Given the description of an element on the screen output the (x, y) to click on. 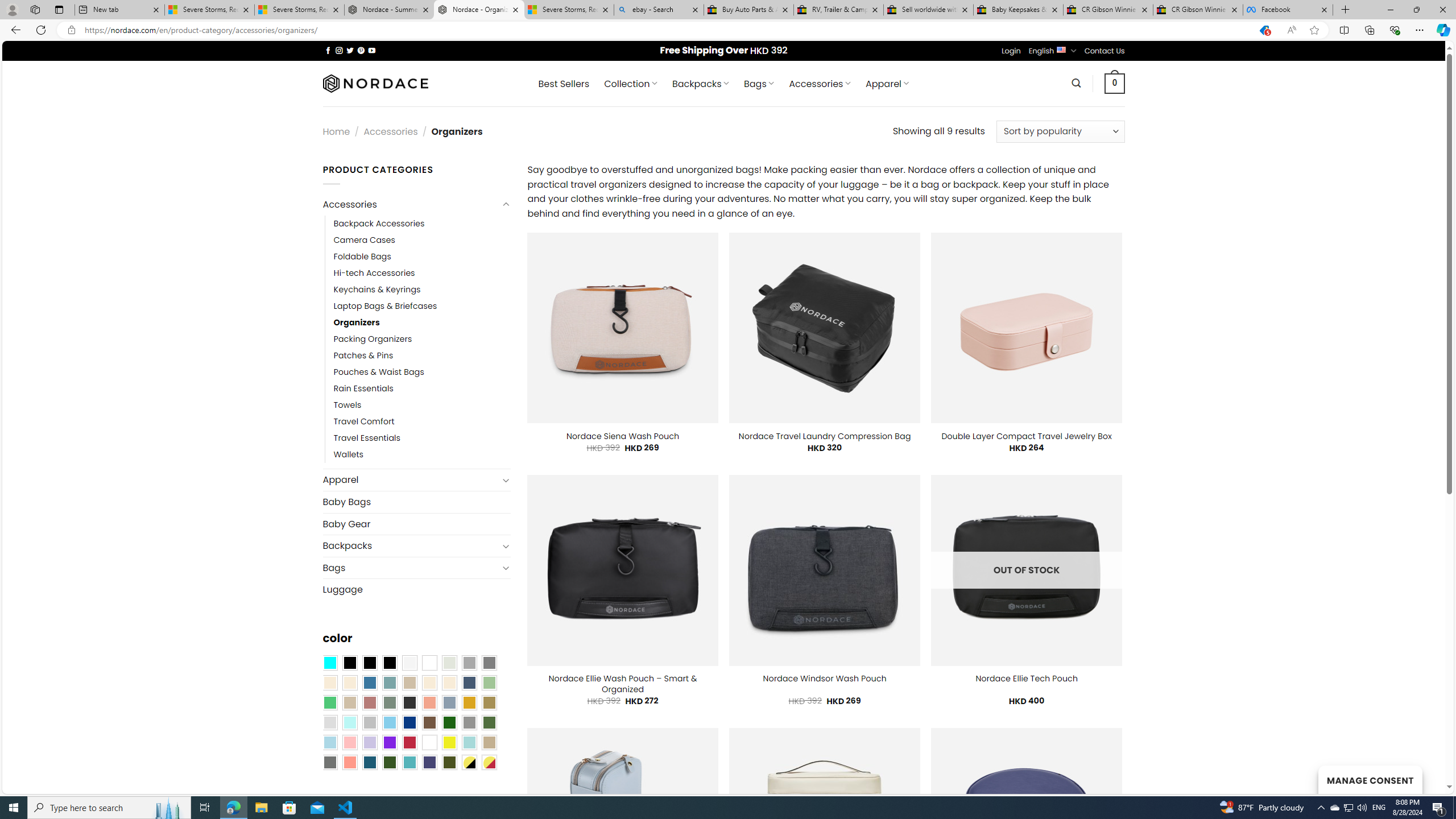
Black (369, 662)
Workspaces (34, 9)
Copilot (Ctrl+Shift+.) (1442, 29)
Personal Profile (12, 9)
Back (13, 29)
White (429, 741)
Split screen (1344, 29)
Follow on Pinterest (360, 49)
  0   (1115, 83)
Navy Blue (408, 721)
Foldable Bags (422, 256)
